Given the description of an element on the screen output the (x, y) to click on. 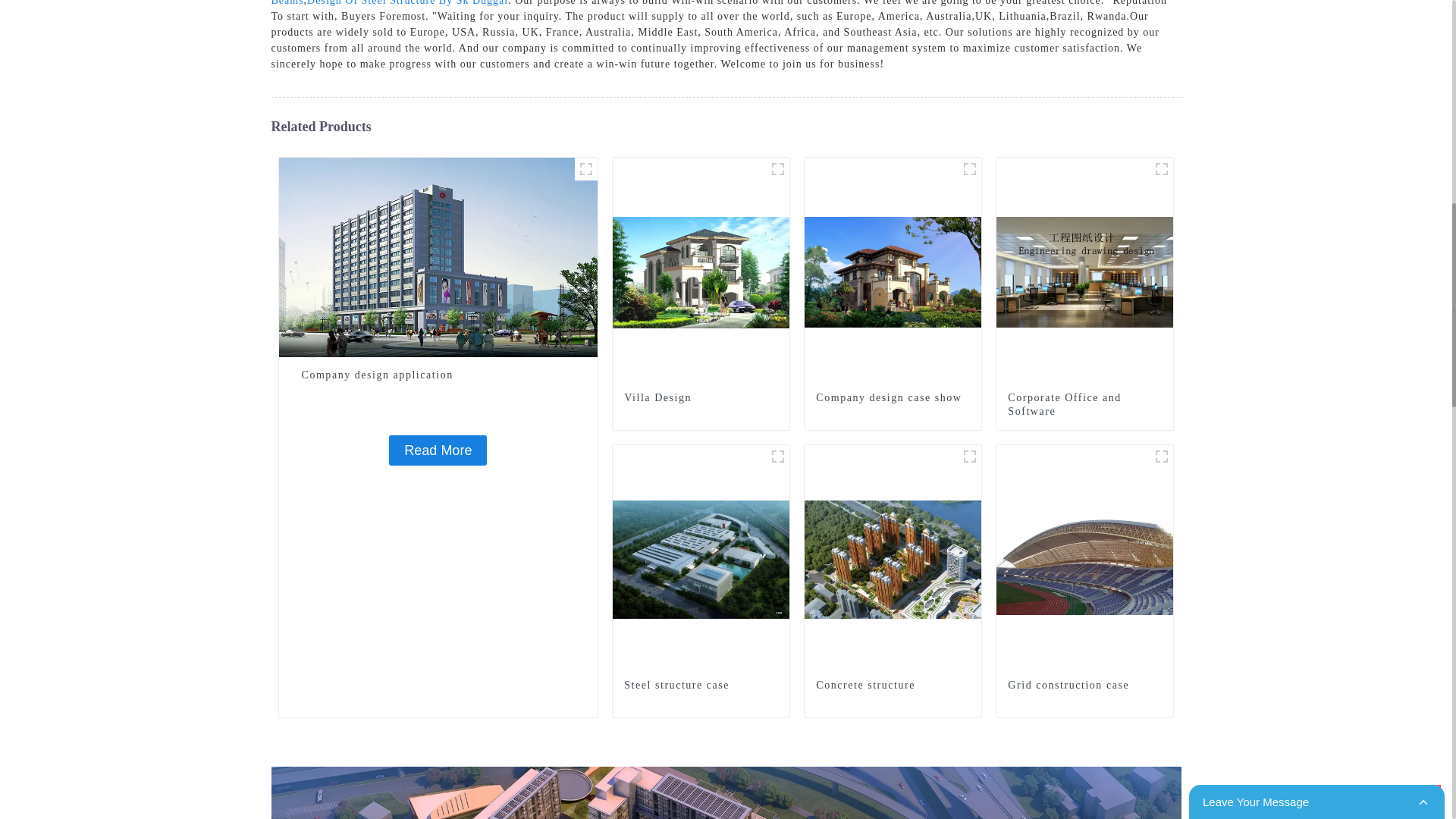
Company design case show (892, 397)
Company design application (438, 375)
Corporate Office and Software (1084, 271)
Company design application (438, 256)
Company design case show (893, 271)
Corporate Office and Software (1084, 404)
Villa Design (700, 397)
Steel structure case (700, 558)
Company design case show (892, 397)
